Given the description of an element on the screen output the (x, y) to click on. 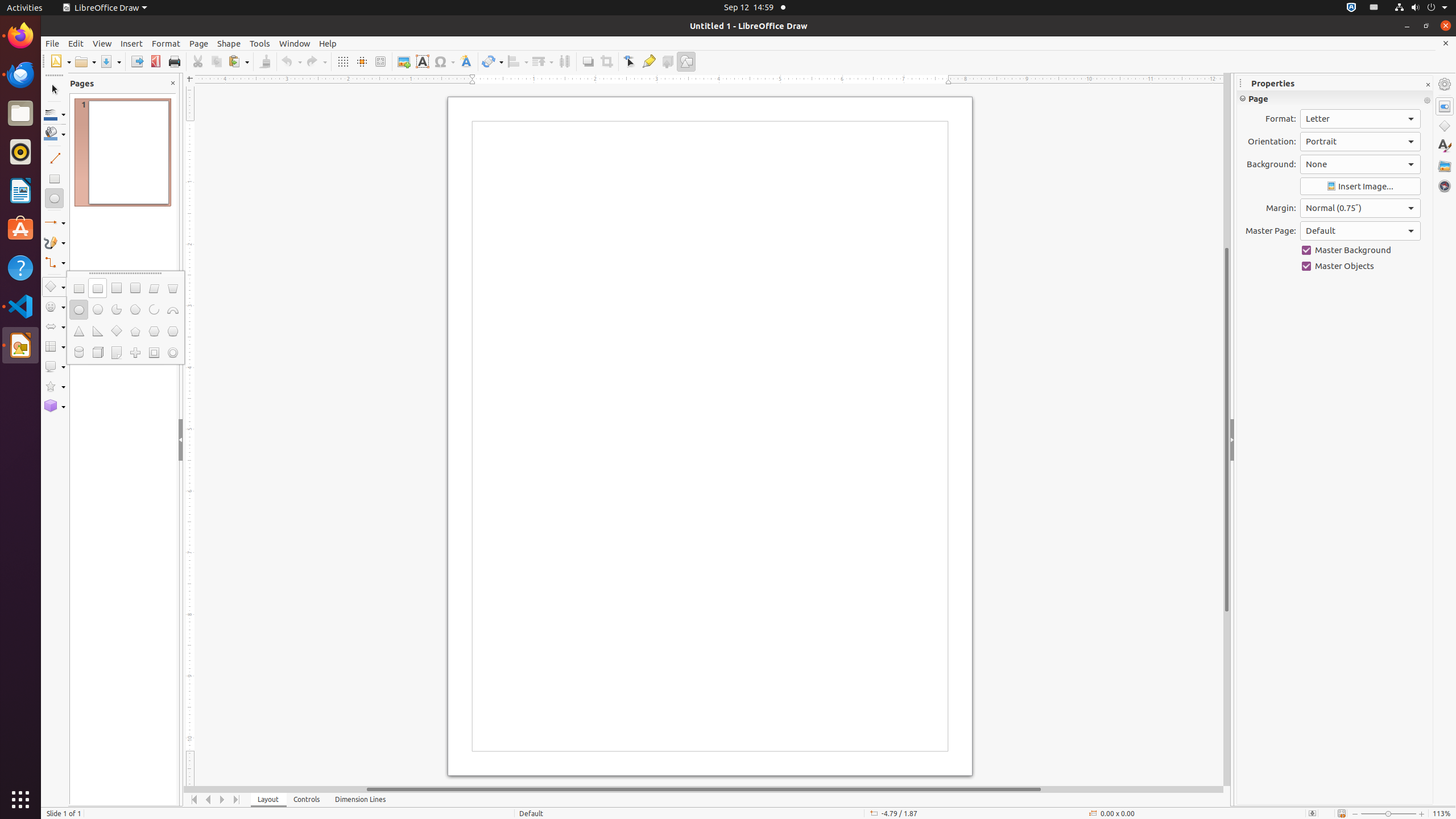
Grid Element type: toggle-button (342, 61)
Helplines While Moving Element type: toggle-button (361, 61)
Master Objects Element type: check-box (1360, 265)
Select Element type: push-button (53, 89)
Dimension Lines Element type: page-tab (360, 799)
